Given the description of an element on the screen output the (x, y) to click on. 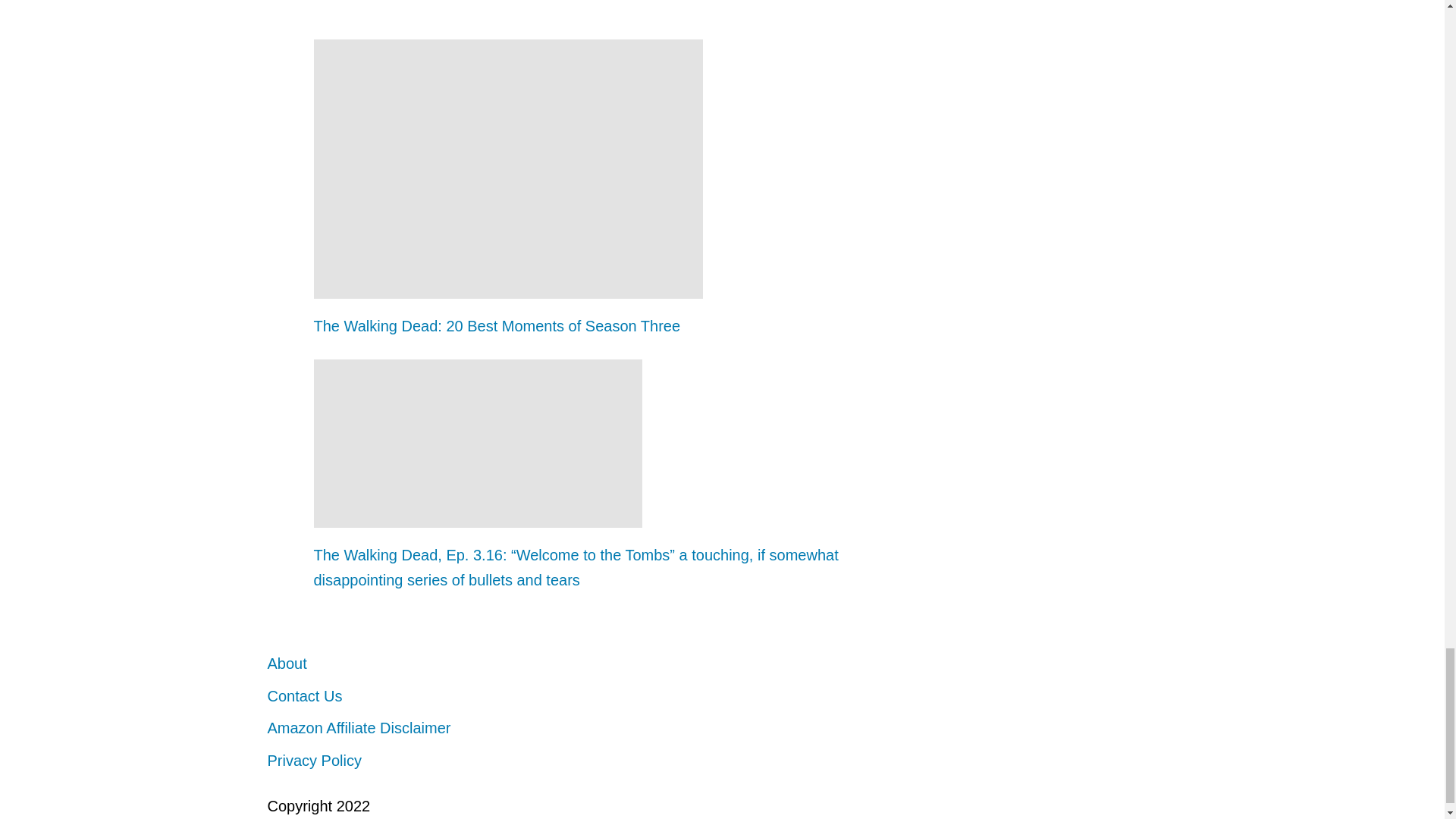
Amazon Affiliate Disclaimer (357, 727)
About (285, 663)
Privacy Policy (313, 760)
The Walking Dead: 20 Best Moments of Season Three (590, 326)
Contact Us (304, 695)
